Given the description of an element on the screen output the (x, y) to click on. 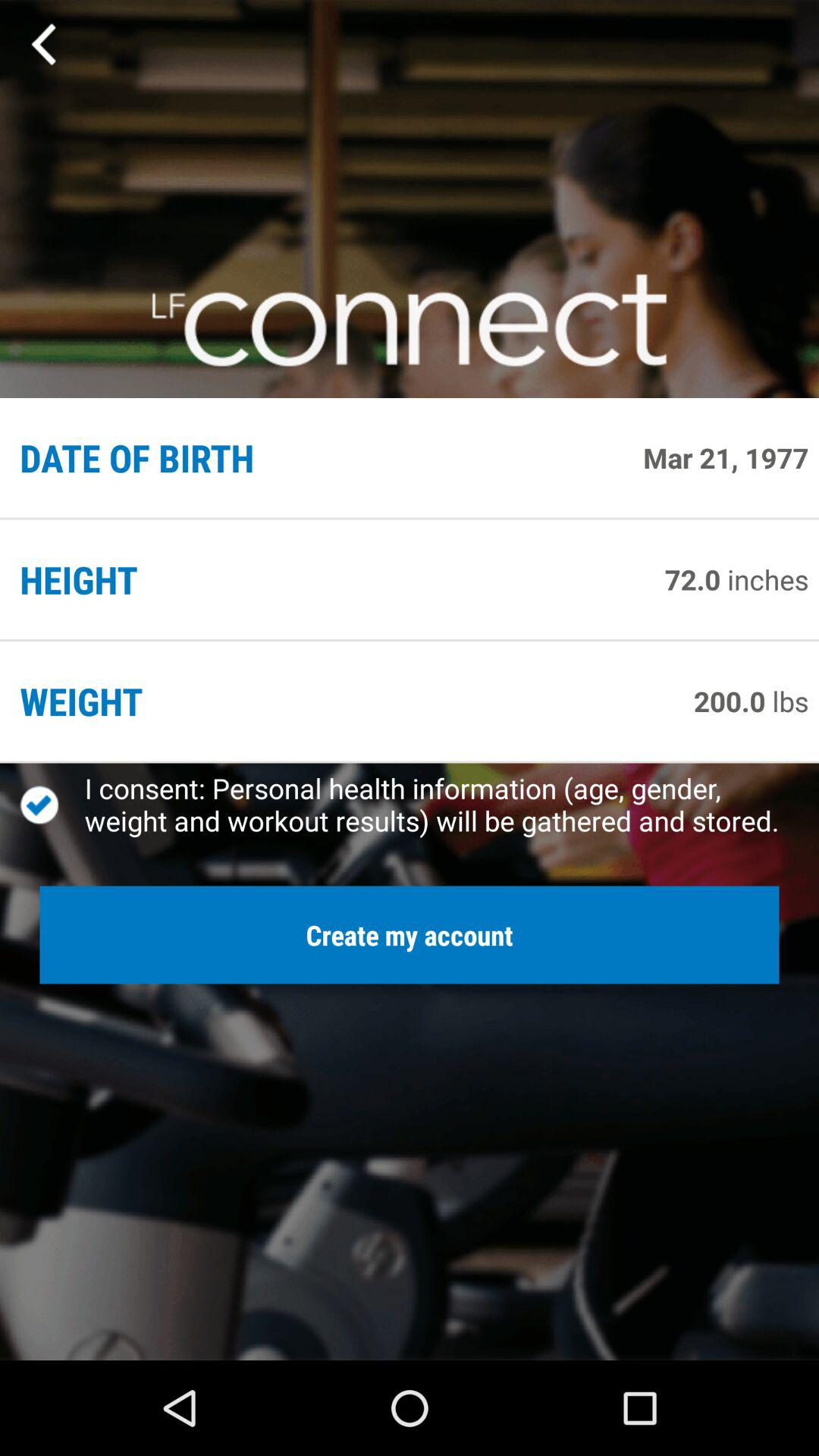
go to previous (44, 44)
